Given the description of an element on the screen output the (x, y) to click on. 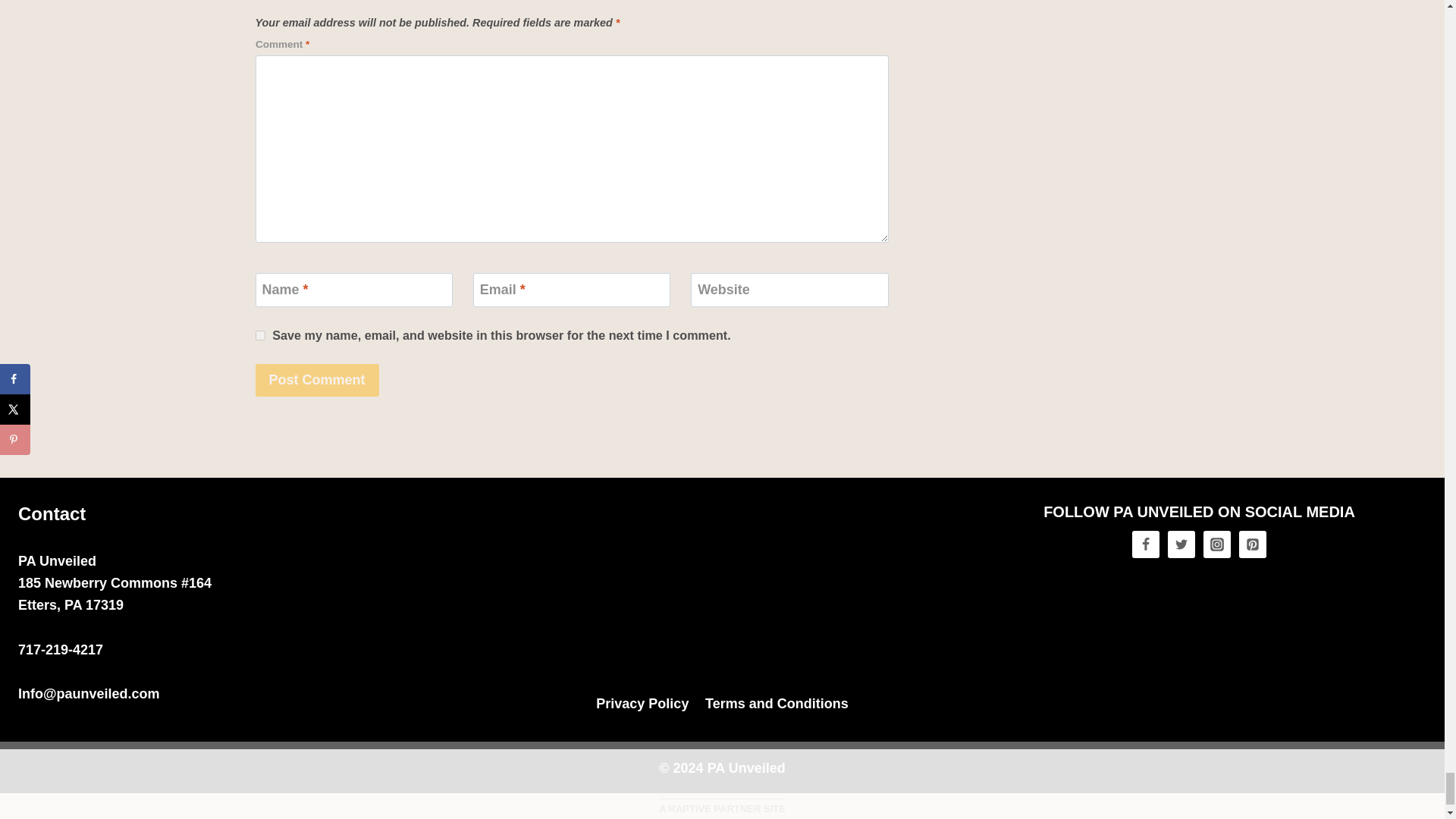
yes (259, 335)
Post Comment (316, 379)
